Given the description of an element on the screen output the (x, y) to click on. 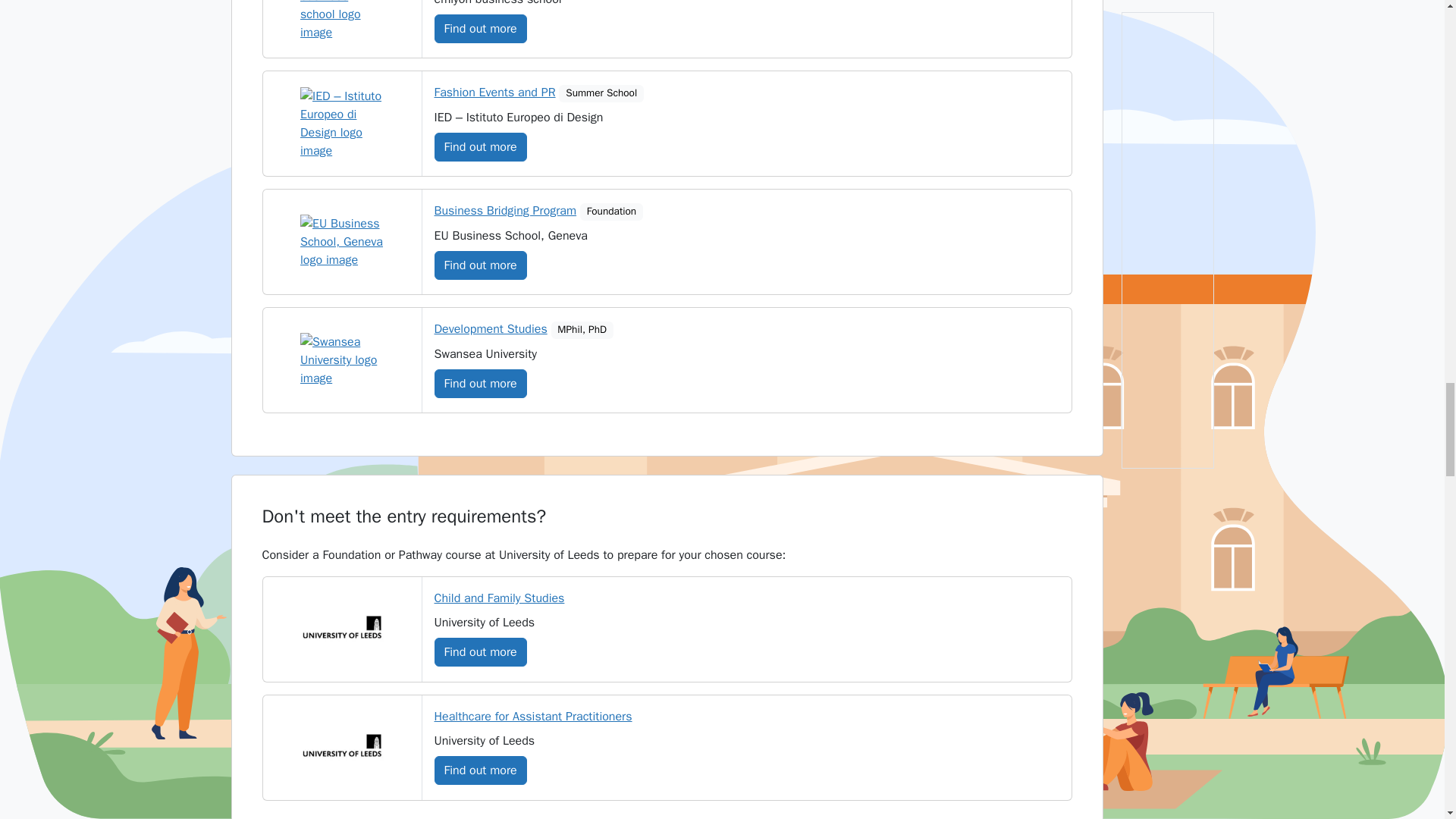
University of Leeds (341, 629)
University of Leeds (341, 747)
Swansea University (341, 359)
EU Business School, Geneva (341, 241)
emlyon business school (341, 20)
